Given the description of an element on the screen output the (x, y) to click on. 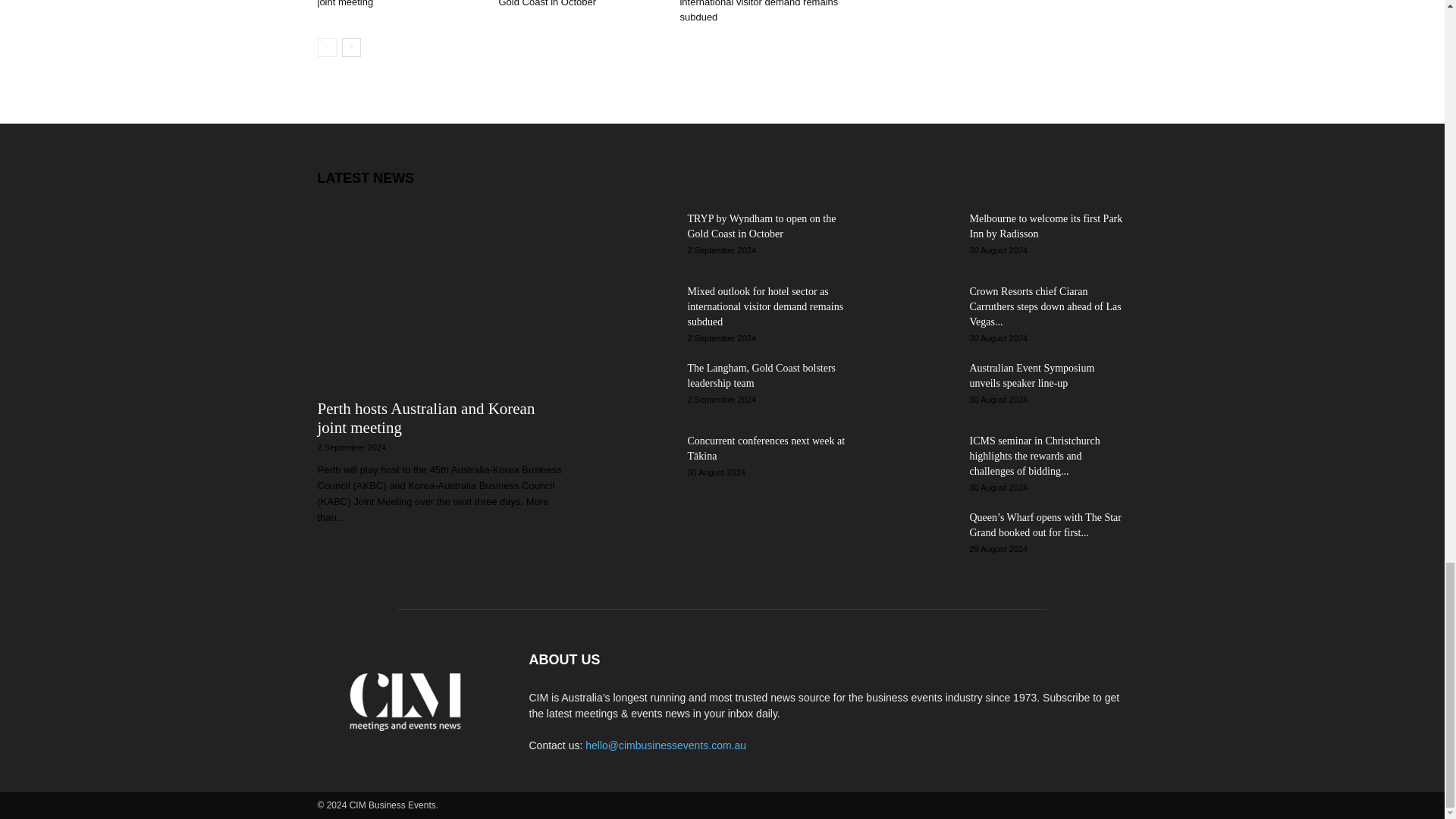
TRYP by Wyndham to open on the Gold Coast in October (573, 3)
Perth hosts Australian and Korean joint meeting (391, 3)
